Given the description of an element on the screen output the (x, y) to click on. 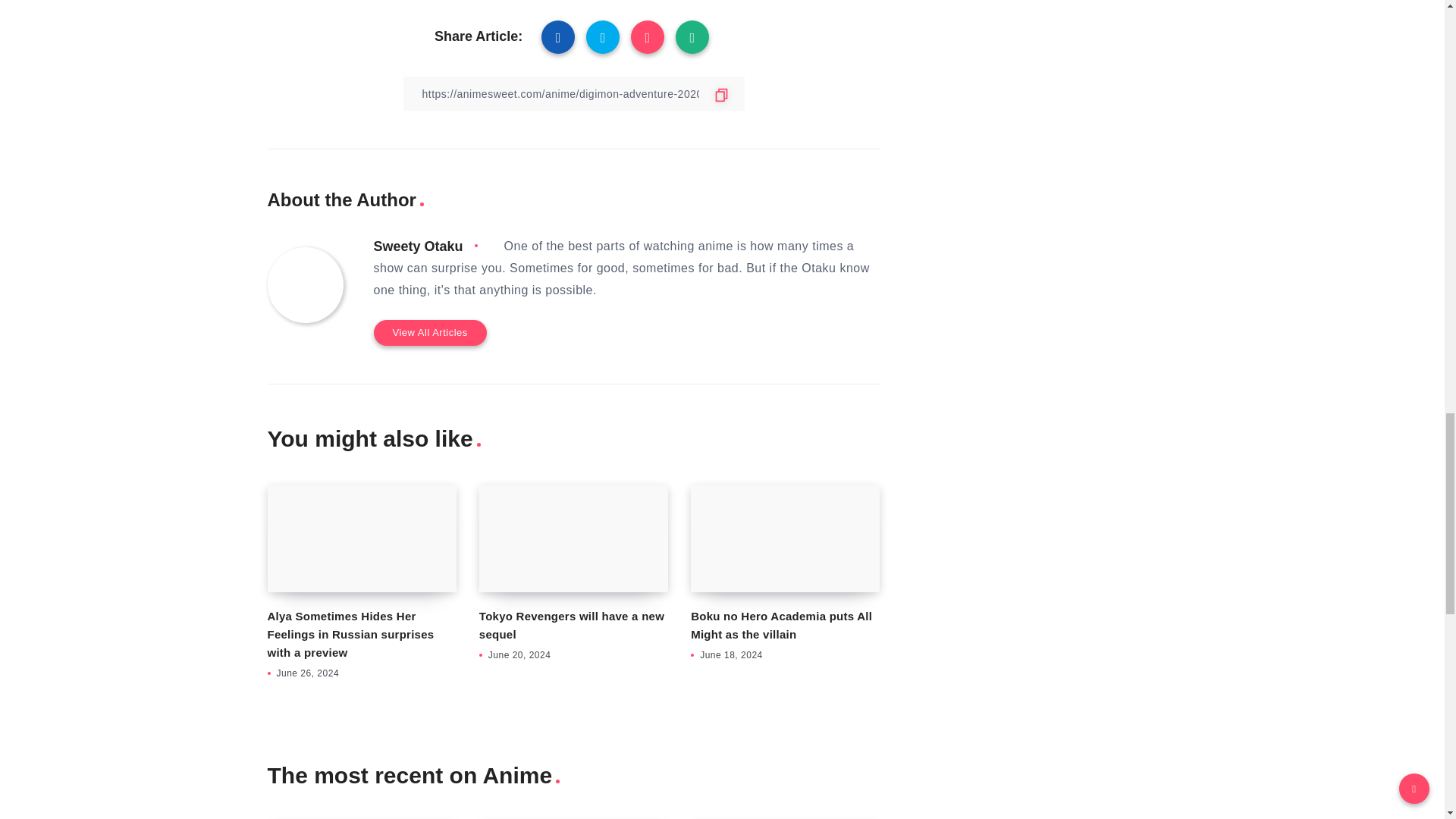
Sweety Otaku (417, 246)
Boku no Hero Academia puts All Might as the villain (781, 624)
Tokyo Revengers will have a new sequel (573, 538)
Boku no Hero Academia puts All Might as the villain (784, 538)
Tokyo Revengers will have a new sequel (571, 624)
View All Articles (429, 332)
